Given the description of an element on the screen output the (x, y) to click on. 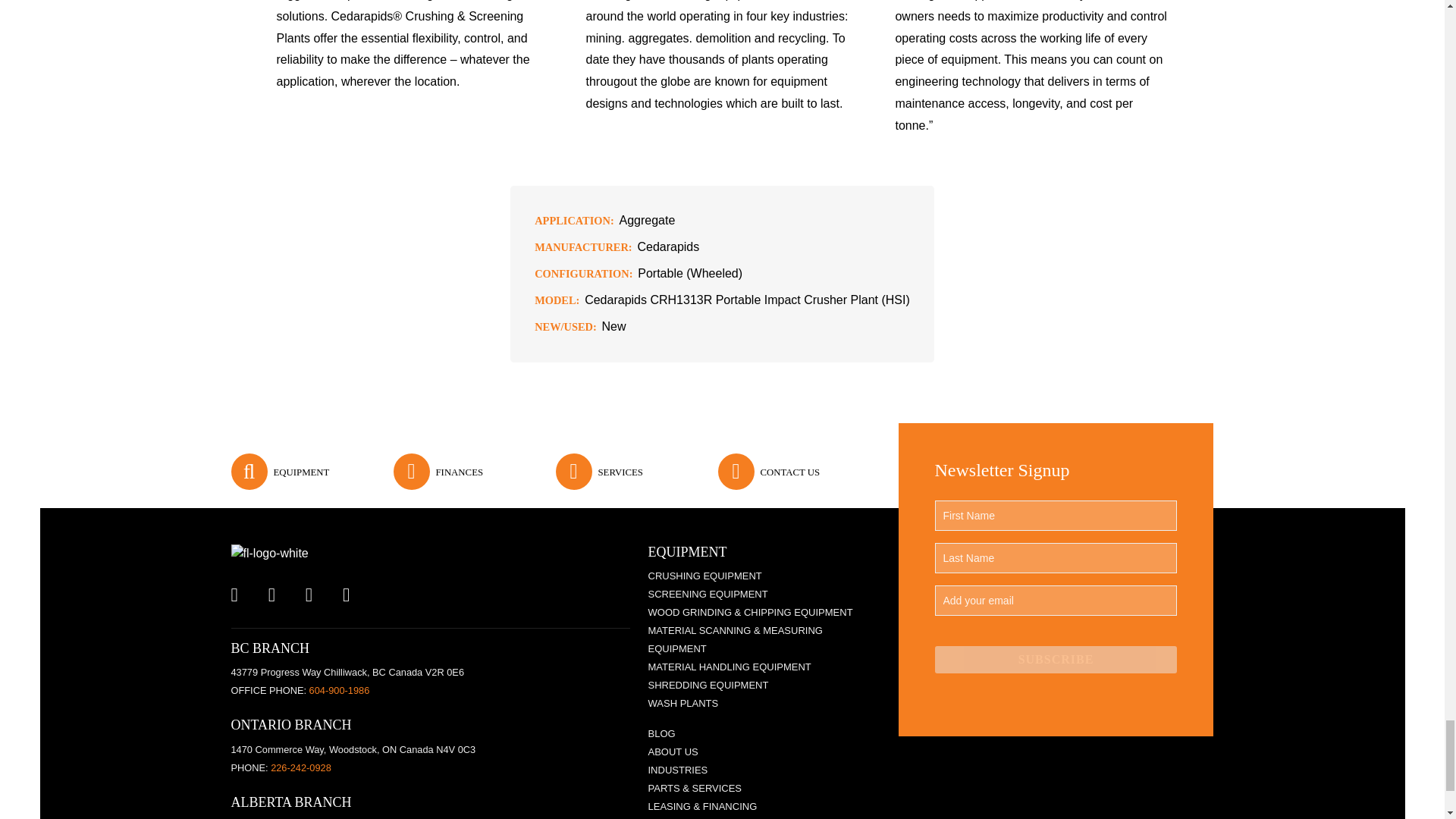
Subscribe (1055, 659)
